Given the description of an element on the screen output the (x, y) to click on. 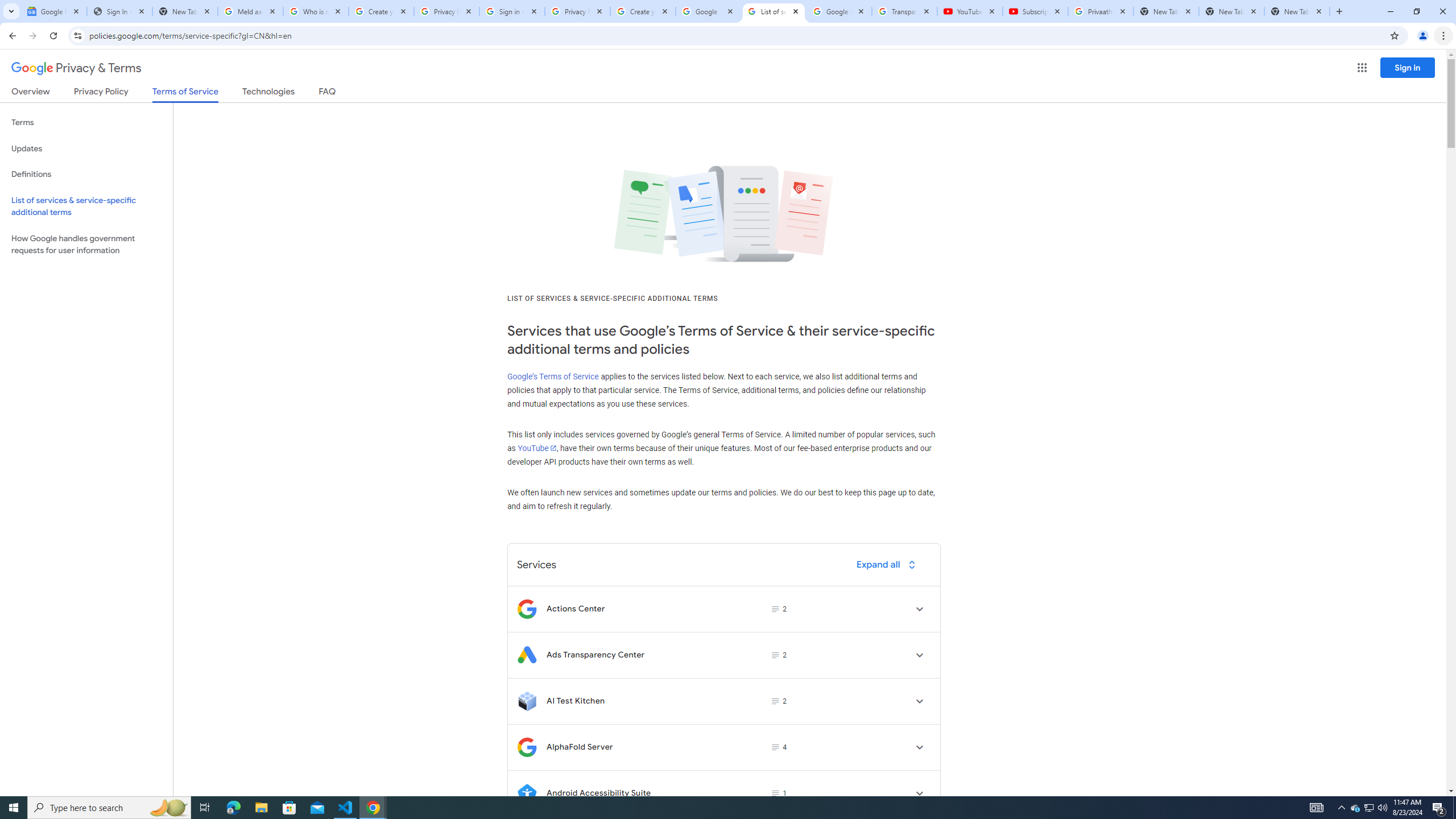
Google Account (838, 11)
How Google handles government requests for user information (86, 244)
Logo for Android Accessibility Suite (526, 792)
Create your Google Account (381, 11)
Create your Google Account (643, 11)
YouTube (969, 11)
Google News (53, 11)
